Given the description of an element on the screen output the (x, y) to click on. 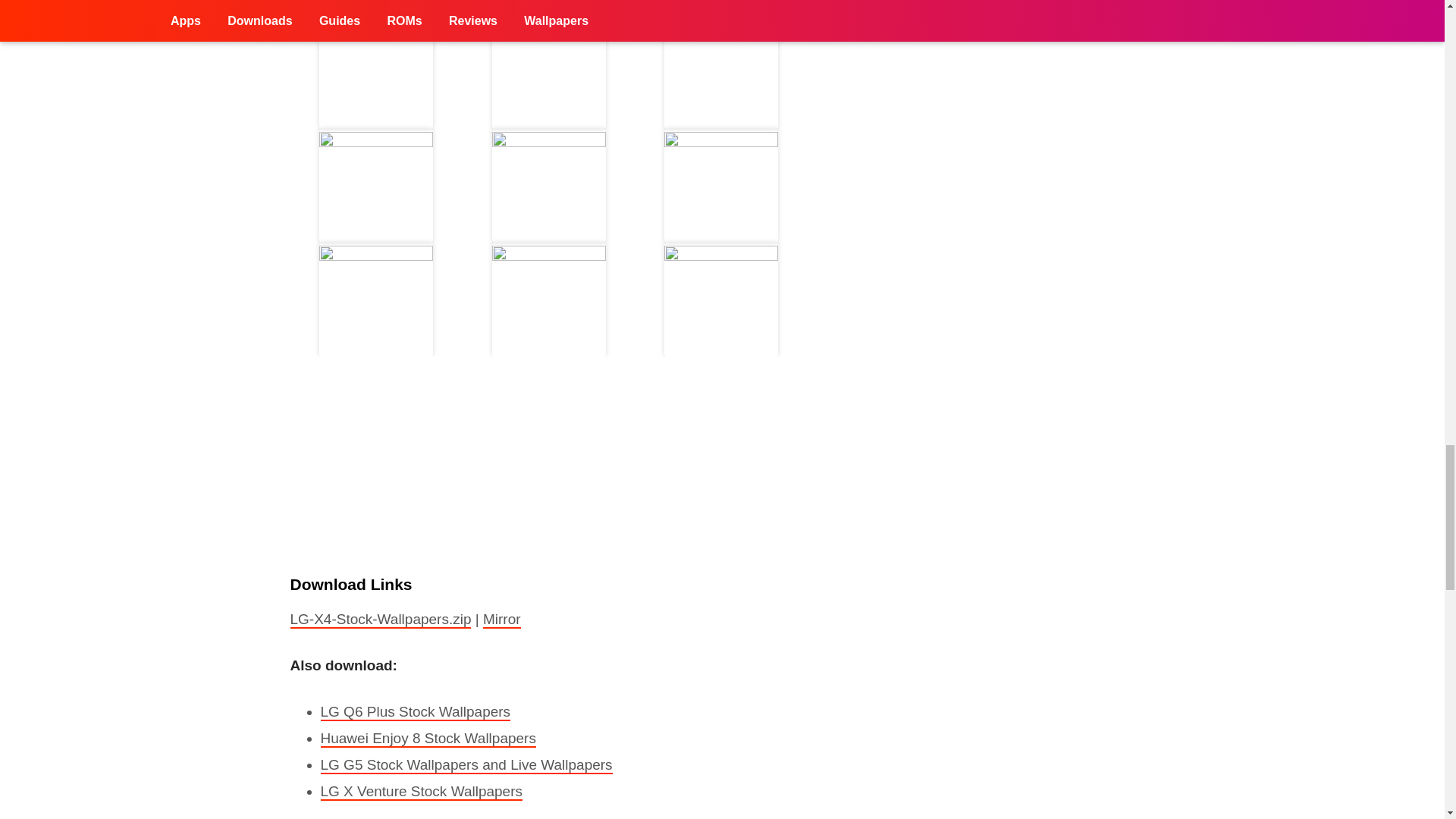
LG X Venture Stock Wallpapers (420, 791)
Huawei Enjoy 8 Stock Wallpapers (427, 738)
Mirror (502, 619)
LG Q6 Plus Stock Wallpapers (415, 712)
LG G5 Stock Wallpapers and Live Wallpapers (465, 764)
LG-X4-Stock-Wallpapers.zip (379, 619)
